Given the description of an element on the screen output the (x, y) to click on. 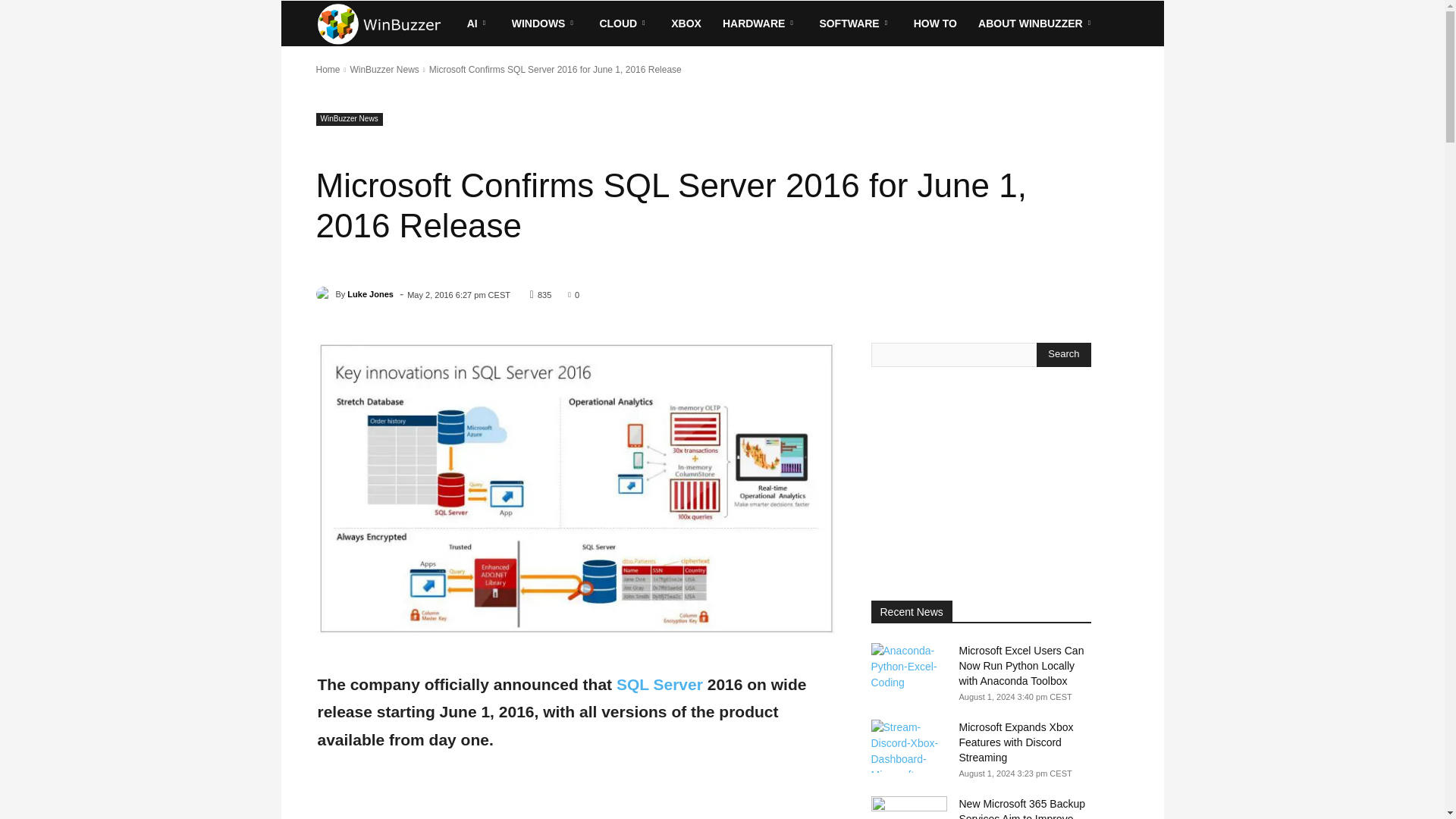
Luke Jones (324, 294)
View all posts in WinBuzzer News (384, 69)
Search (1063, 354)
Posts tagged with SQL Server (659, 683)
